Given the description of an element on the screen output the (x, y) to click on. 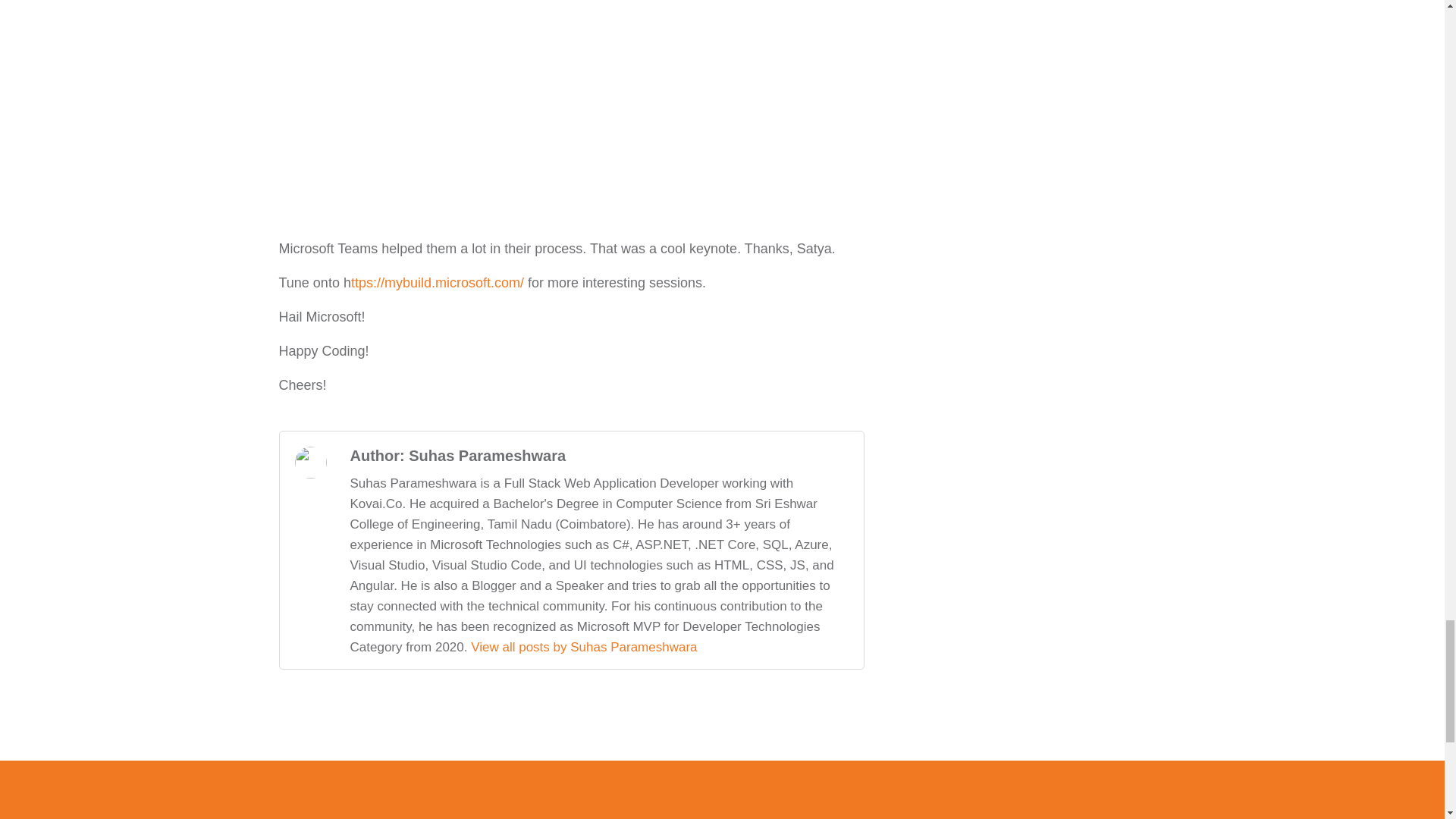
View all posts by Suhas Parameshwara (583, 646)
